Given the description of an element on the screen output the (x, y) to click on. 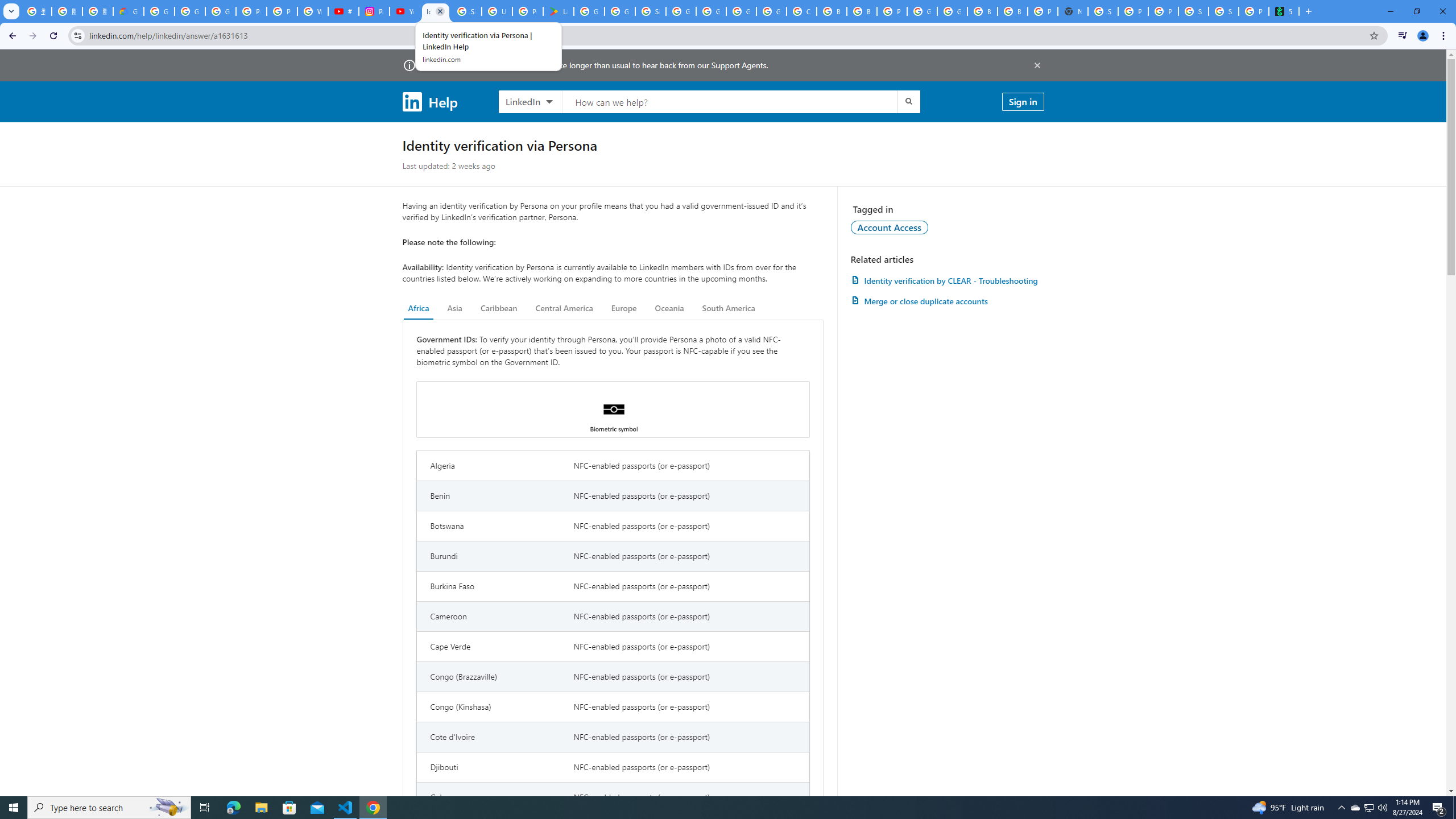
Asia (454, 308)
Identity verification via Persona | LinkedIn Help (434, 11)
Biometric symbol (612, 409)
Merge or close duplicate accounts (946, 300)
System (6, 6)
Oceania (668, 308)
YouTube Culture & Trends - On The Rise: Handcam Videos (404, 11)
Browse Chrome as a guest - Computer - Google Chrome Help (861, 11)
